Given the description of an element on the screen output the (x, y) to click on. 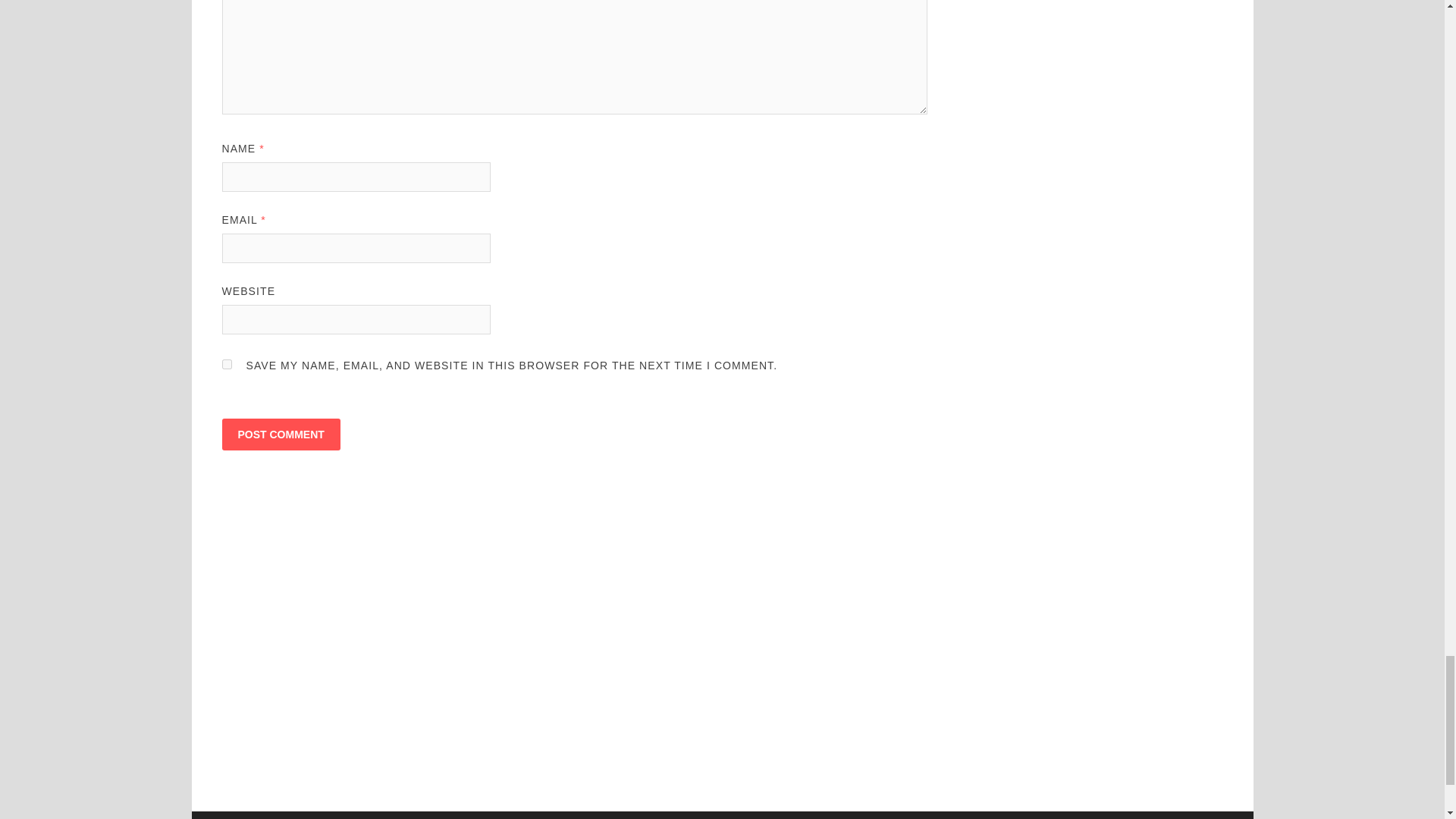
yes (226, 364)
Post Comment (280, 434)
Post Comment (280, 434)
